Given the description of an element on the screen output the (x, y) to click on. 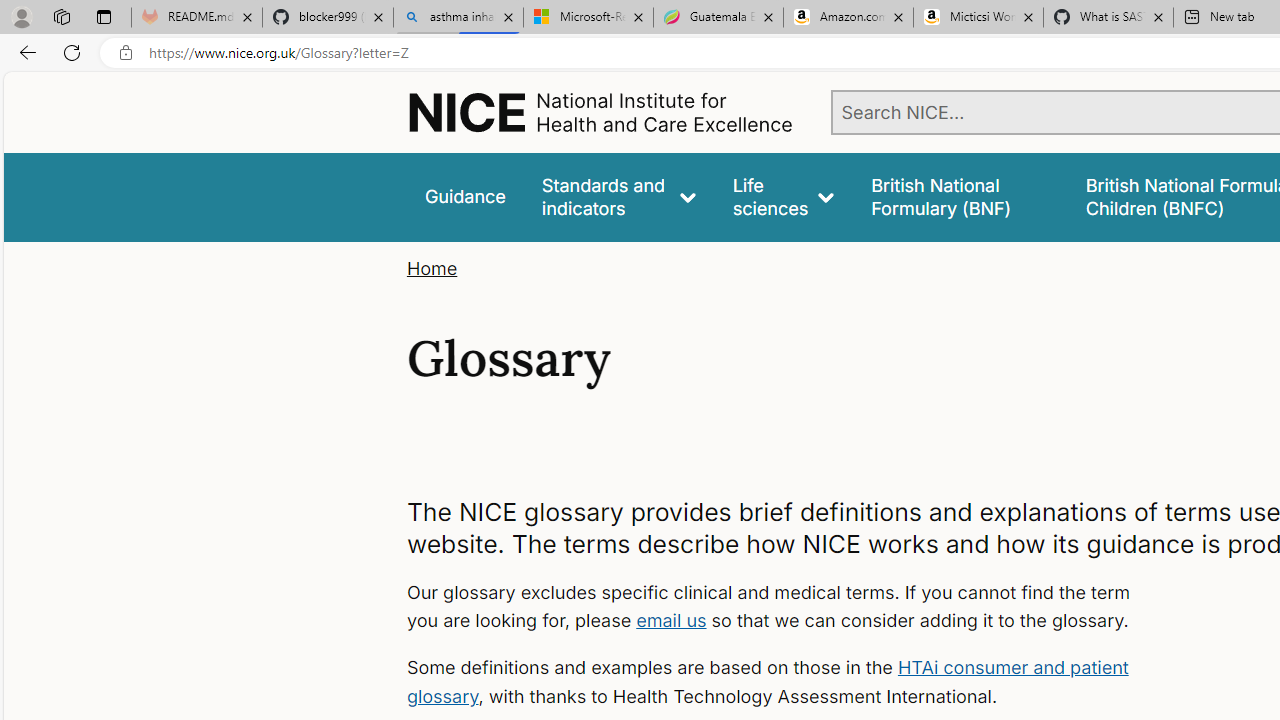
HTAi consumer and patient glossary (766, 681)
asthma inhaler - Search (458, 17)
